Given the description of an element on the screen output the (x, y) to click on. 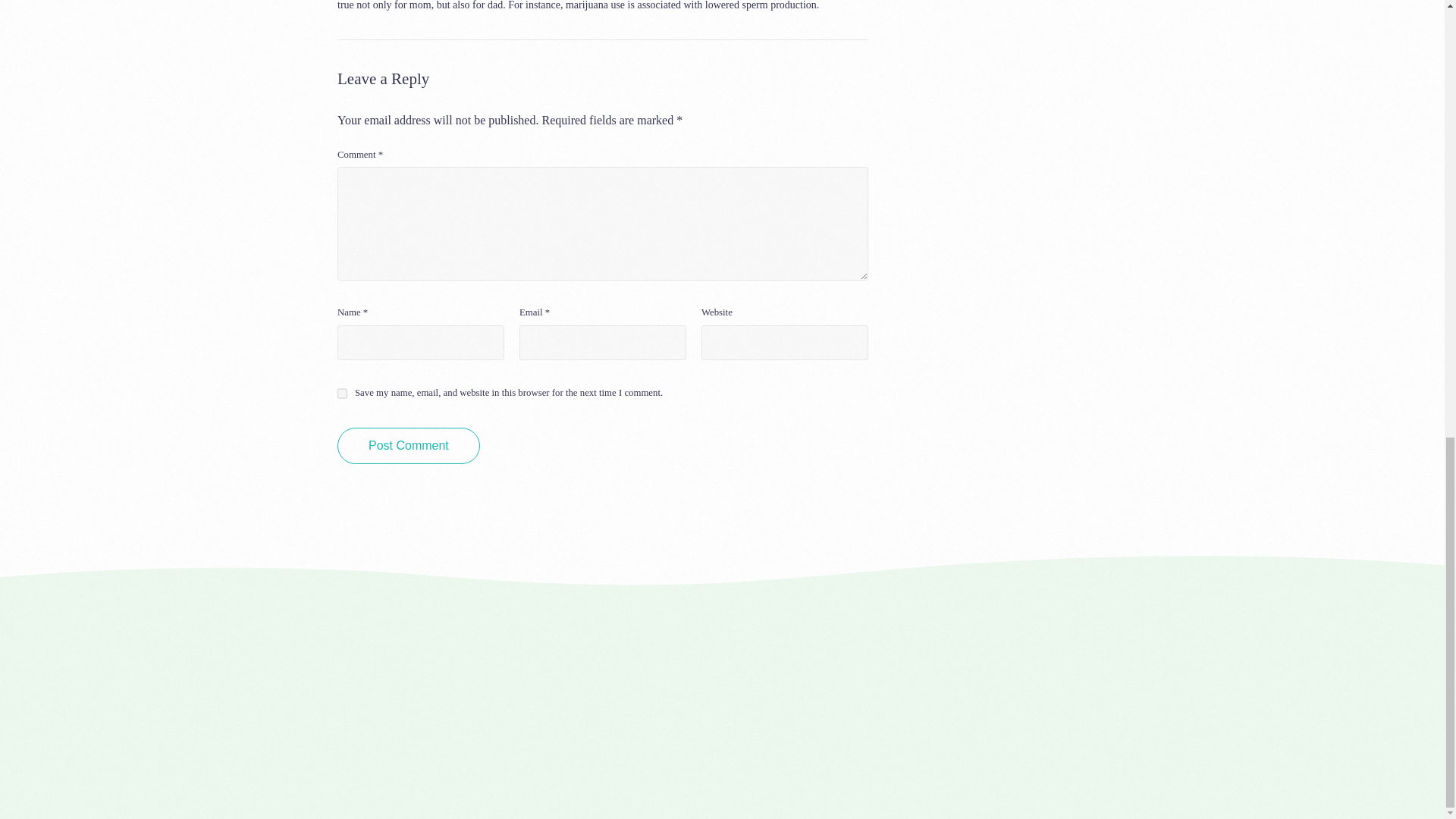
Post Comment (408, 445)
Post Comment (408, 446)
yes (342, 393)
